Given the description of an element on the screen output the (x, y) to click on. 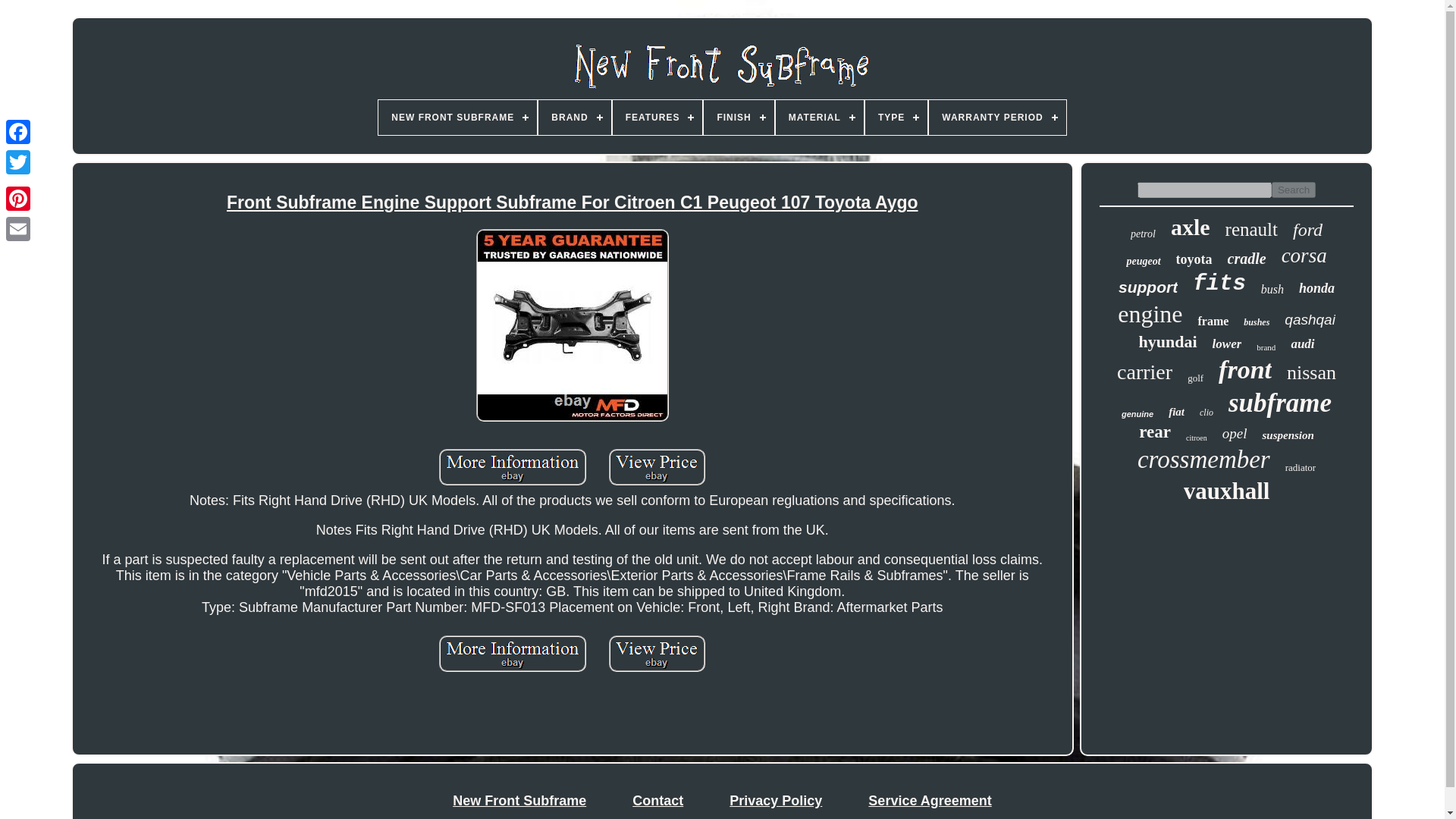
Search (1293, 189)
FEATURES (657, 117)
BRAND (574, 117)
NEW FRONT SUBFRAME (457, 117)
